Given the description of an element on the screen output the (x, y) to click on. 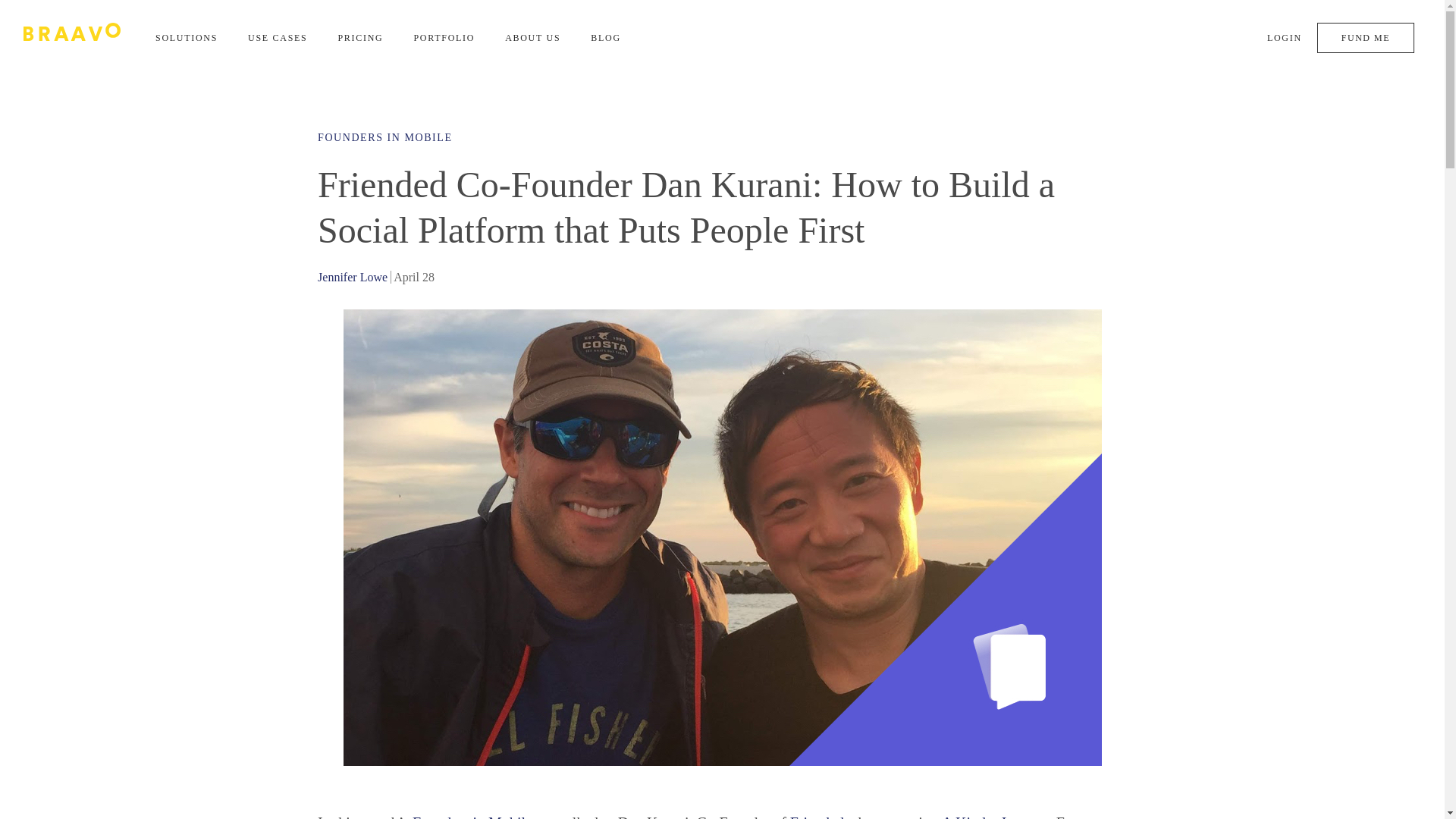
USE CASES (277, 37)
ABOUT US (532, 37)
Friended (817, 816)
FUND ME (1365, 37)
PRICING (359, 37)
BLOG (606, 37)
SOLUTIONS (185, 37)
FOUNDERS IN MOBILE (384, 137)
A Kinder Internet (995, 816)
PORTFOLIO (443, 37)
